Given the description of an element on the screen output the (x, y) to click on. 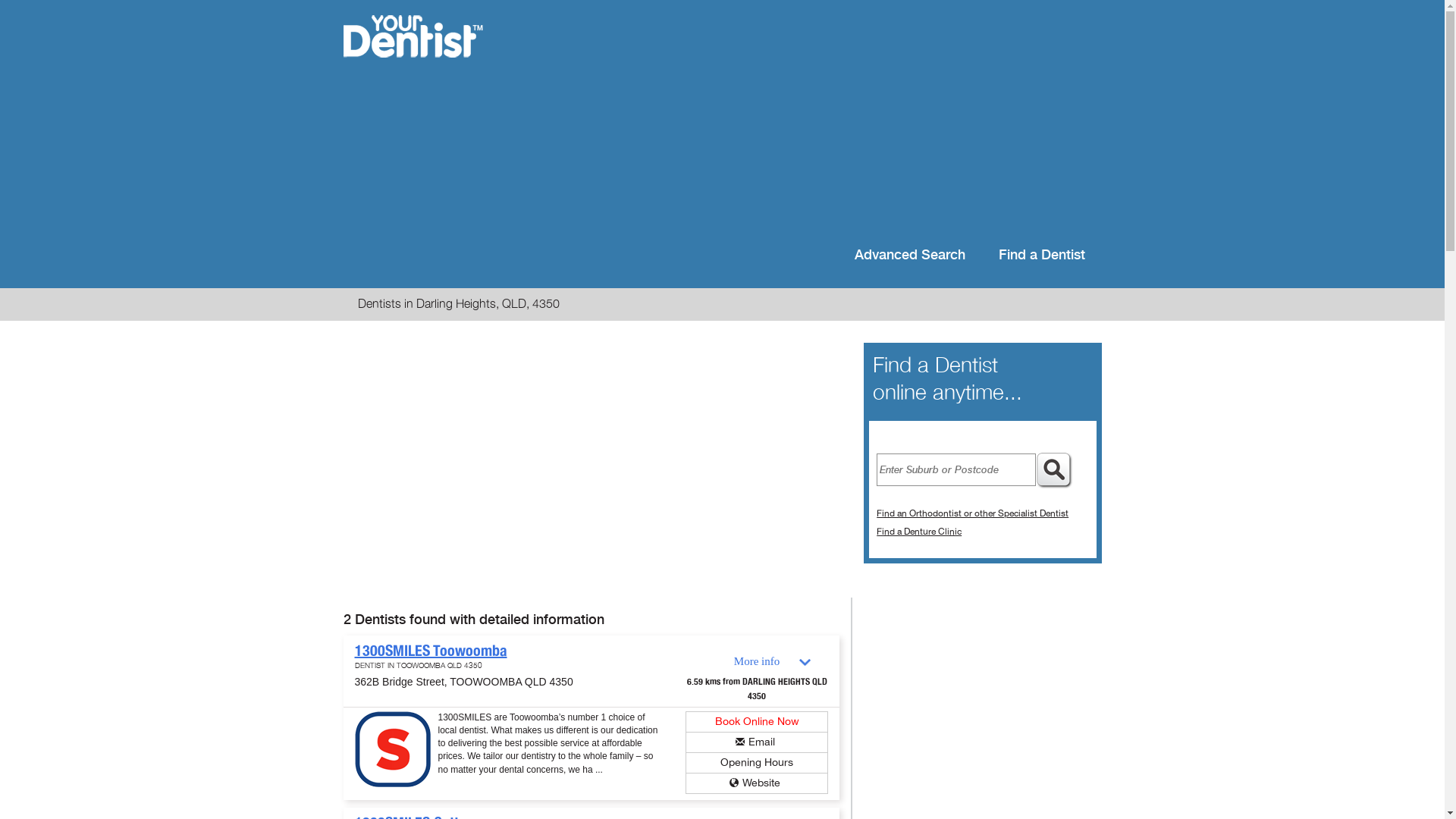
More info Element type: text (756, 660)
Find a Dentist Element type: text (1040, 255)
1300SMILES Toowoomba Element type: text (430, 650)
Opening Hours Element type: text (756, 762)
Website Element type: text (761, 782)
Advanced Search Element type: text (908, 255)
Find a Denture Clinic Element type: text (918, 531)
Book Online Now Element type: text (757, 721)
Find an Orthodontist or other Specialist Dentist Element type: text (972, 513)
Advertisement Element type: hover (819, 121)
Email Element type: text (761, 741)
